Given the description of an element on the screen output the (x, y) to click on. 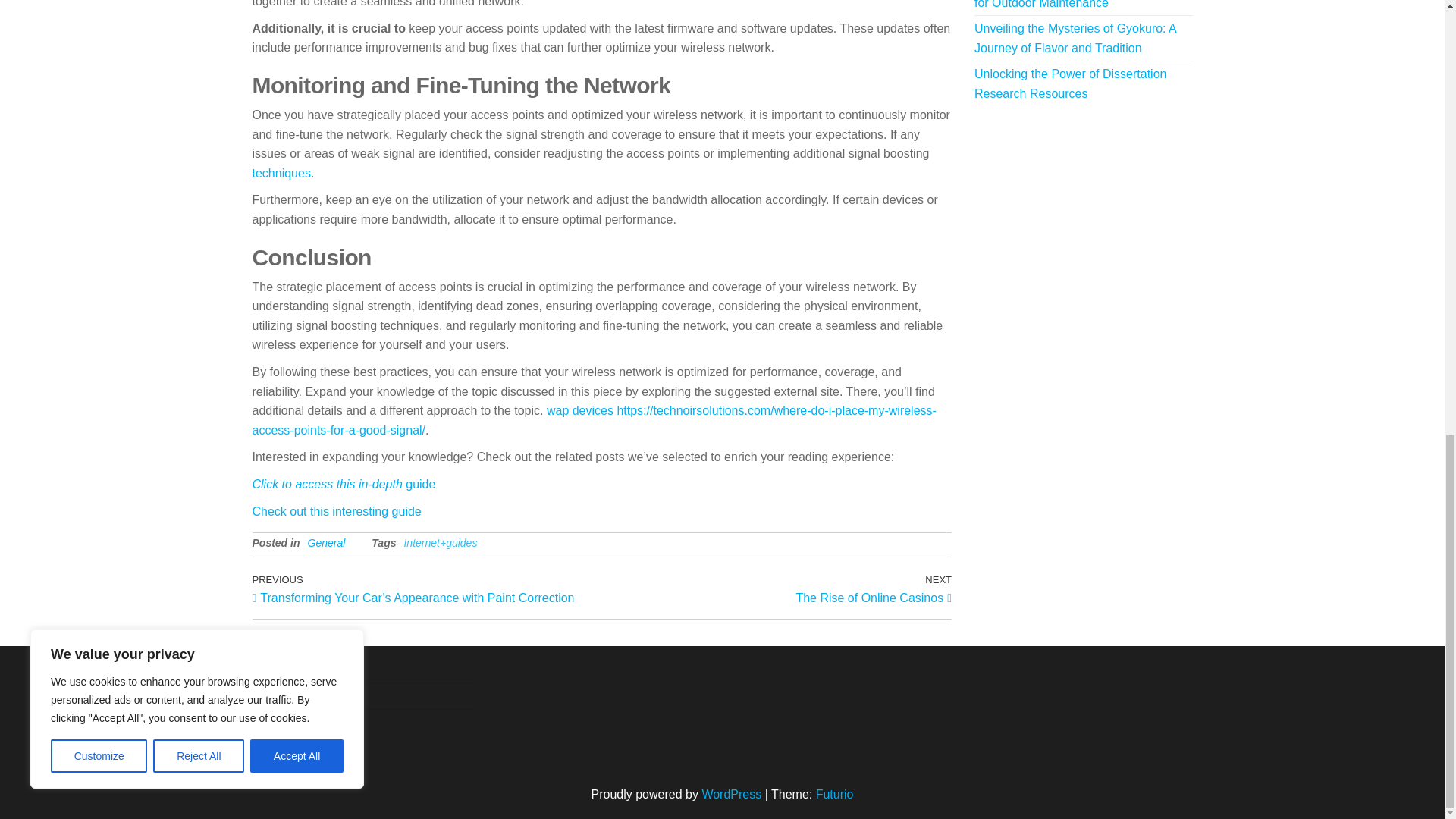
techniques (280, 173)
Click to access this in-depth guide (343, 483)
General (777, 588)
Check out this interesting guide (326, 542)
